Given the description of an element on the screen output the (x, y) to click on. 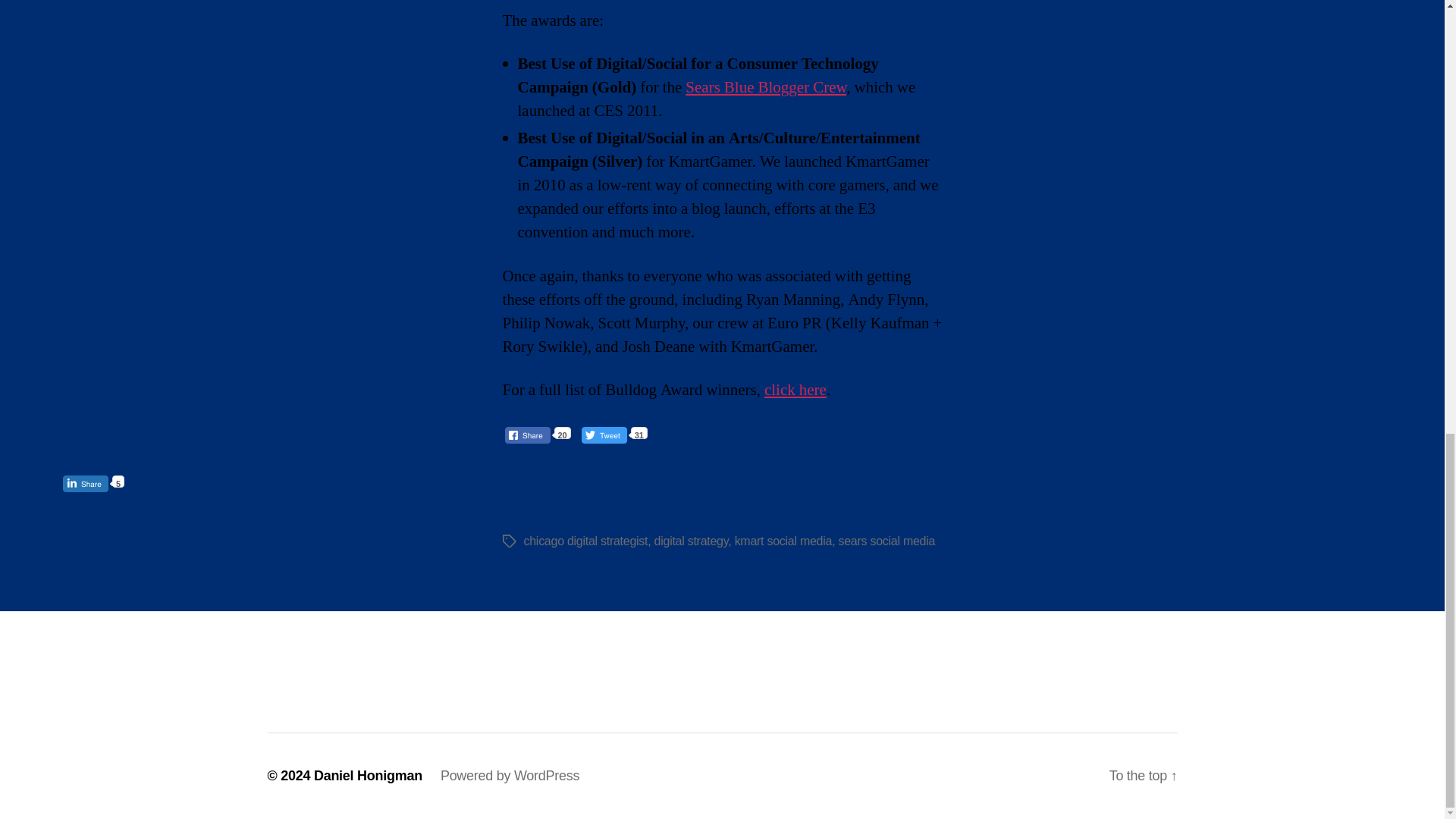
digital strategy (691, 540)
click here (795, 390)
chicago digital strategist (584, 540)
Powered by WordPress (510, 774)
Daniel Honigman (368, 774)
Sears Blue Blogger Crew (765, 86)
kmart social media (783, 540)
sears social media (887, 540)
